Given the description of an element on the screen output the (x, y) to click on. 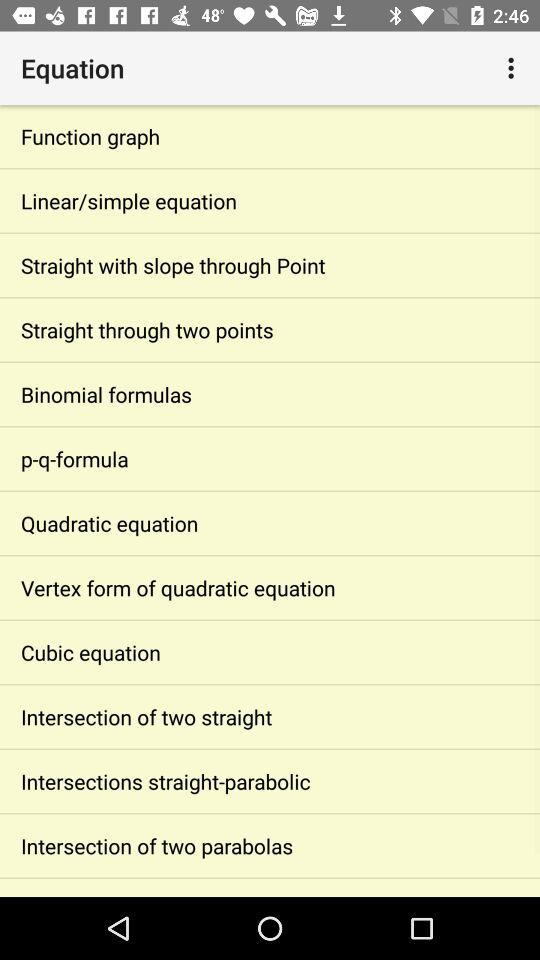
tap the icon below the vertex form of app (270, 652)
